Given the description of an element on the screen output the (x, y) to click on. 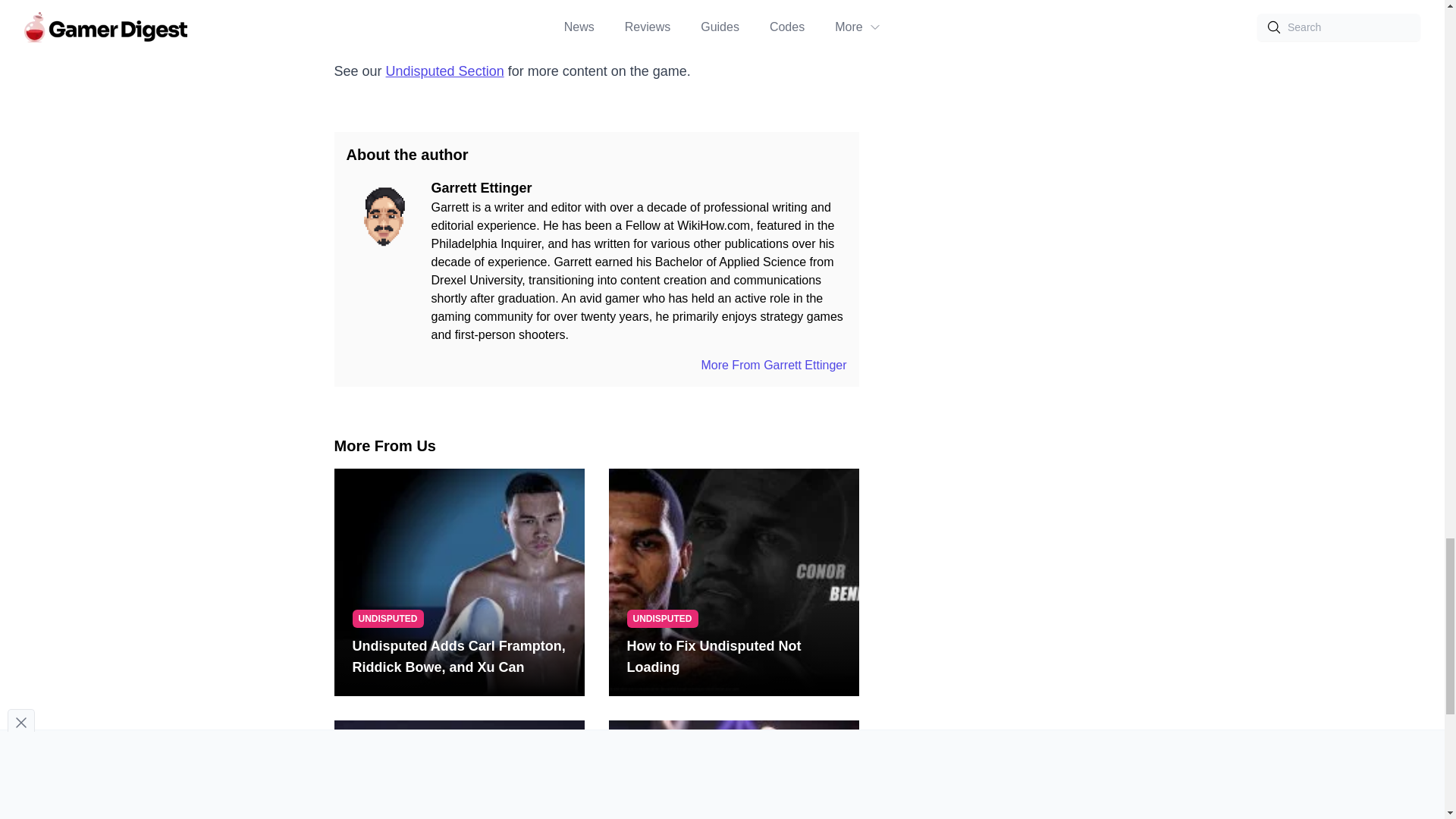
More From Garrett Ettinger (772, 364)
UNDISPUTED (661, 618)
Undisputed Section (444, 70)
Undisputed Adds Carl Frampton, Riddick Bowe, and Xu Can (459, 656)
UNDISPUTED (387, 618)
How to Fix Undisputed Not Loading (733, 656)
